Given the description of an element on the screen output the (x, y) to click on. 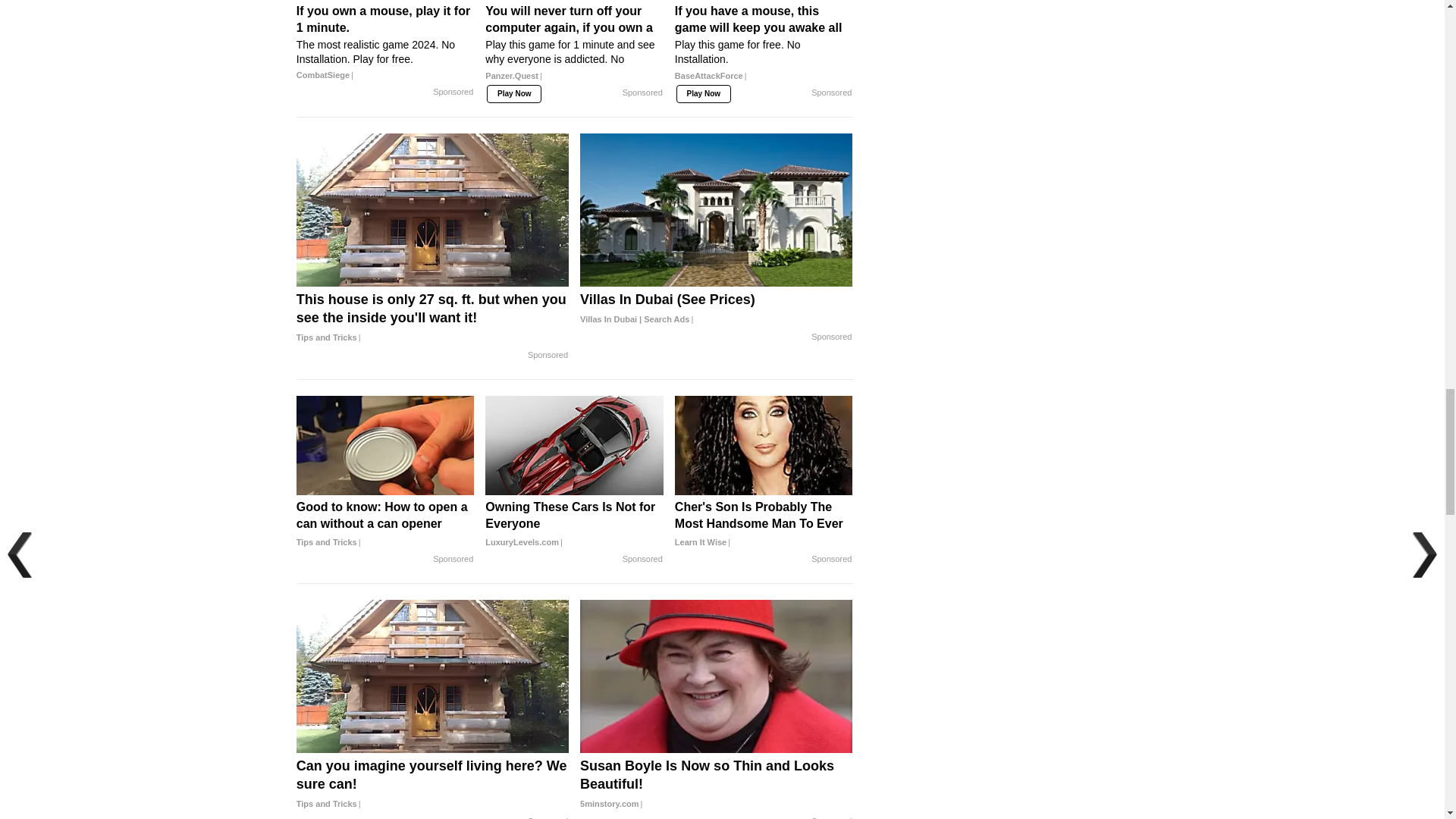
If you own a mouse, play it for 1 minute. (385, 43)
